Given the description of an element on the screen output the (x, y) to click on. 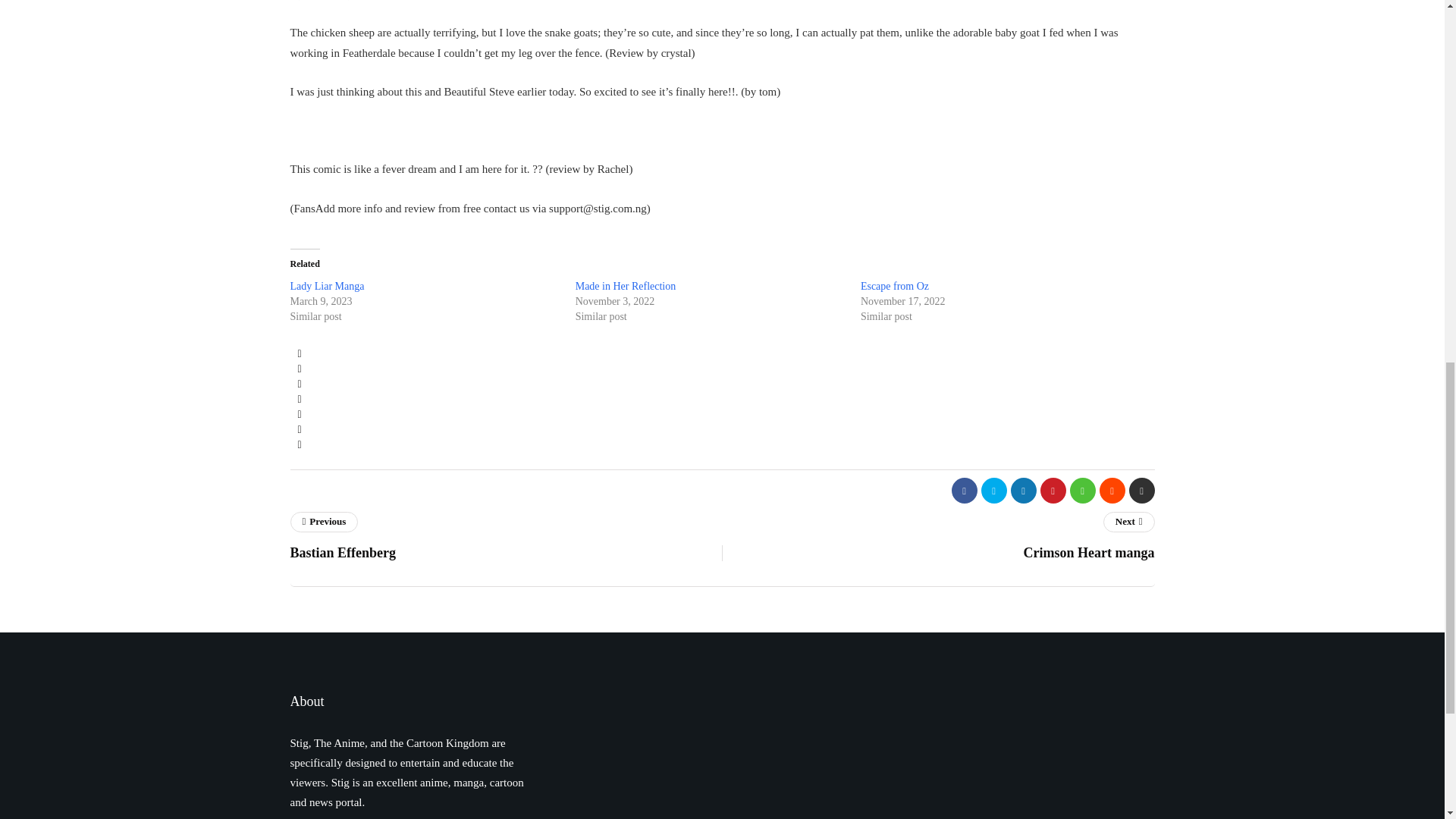
Pin this (298, 399)
Tweet this (298, 368)
Escape from Oz (894, 285)
Share with Facebook (298, 353)
Lady Liar Manga (326, 285)
Share with LinkedIn (298, 384)
Made in Her Reflection (626, 285)
Share on Reddit (298, 429)
Share to WhatsApp (298, 414)
